Given the description of an element on the screen output the (x, y) to click on. 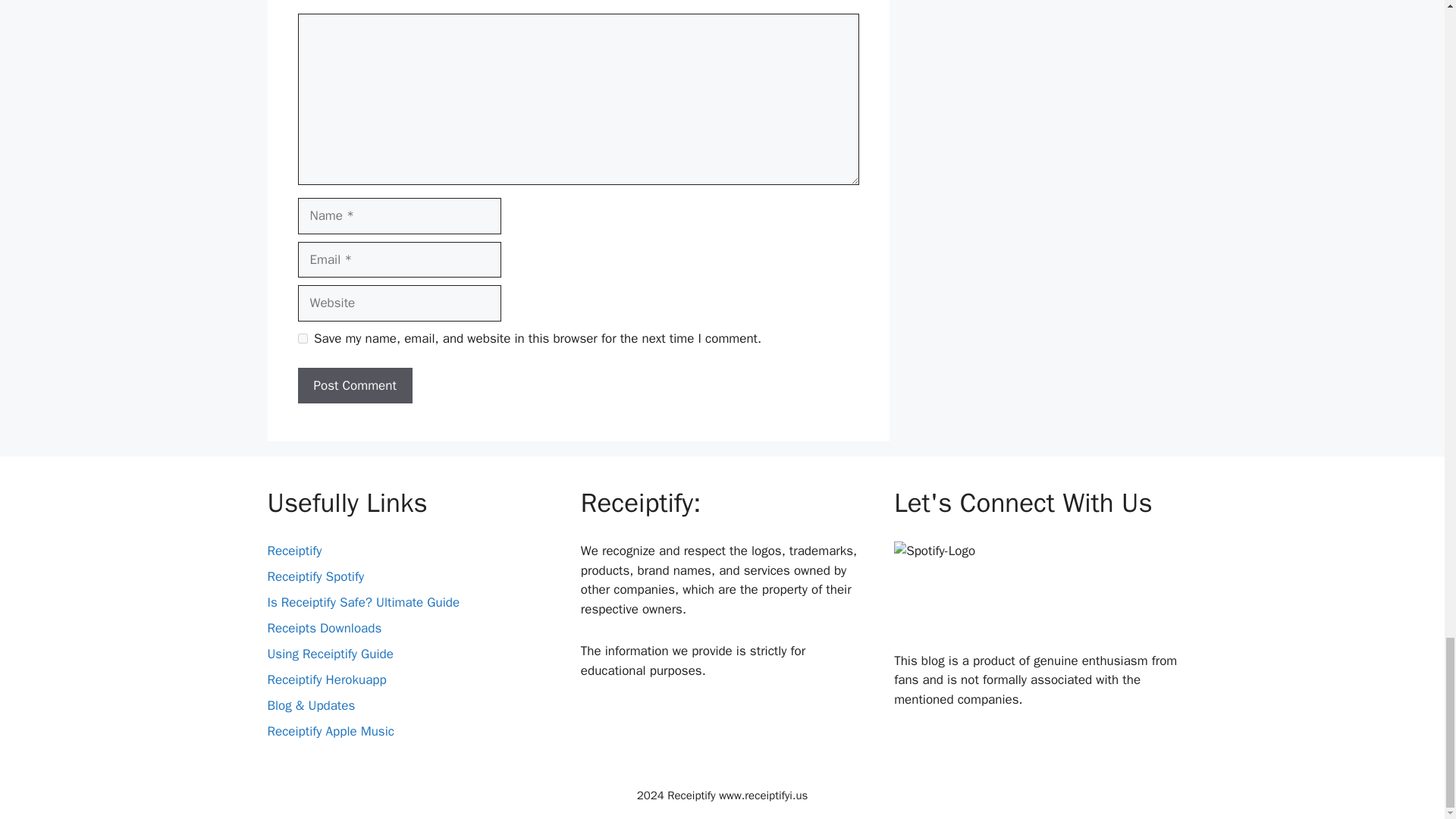
Post Comment (354, 385)
yes (302, 338)
Post Comment (354, 385)
